Given the description of an element on the screen output the (x, y) to click on. 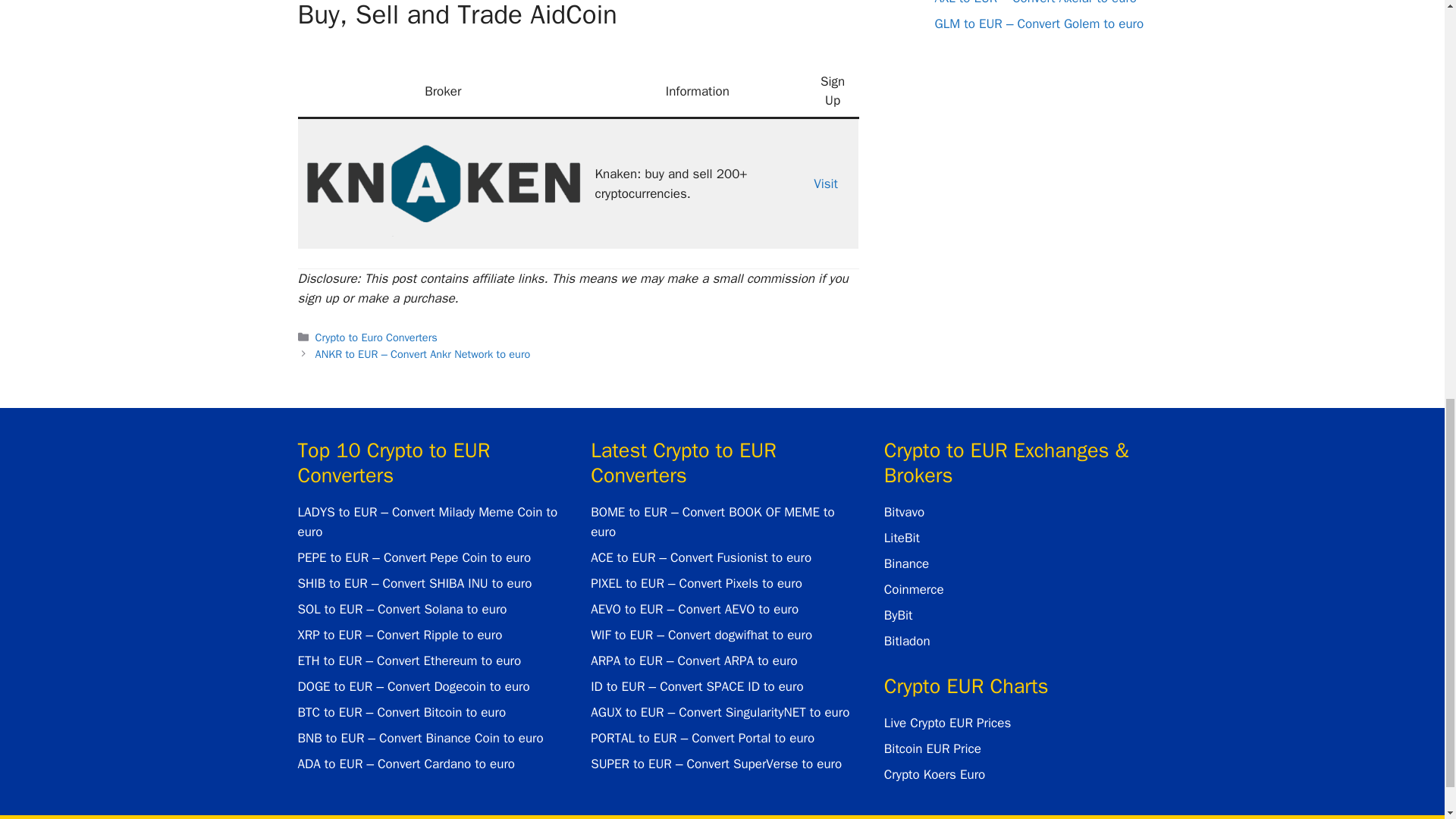
AID to EUR - Convert AidCoin to euro (442, 181)
Visit (825, 183)
Crypto to Euro Converters (376, 336)
